Given the description of an element on the screen output the (x, y) to click on. 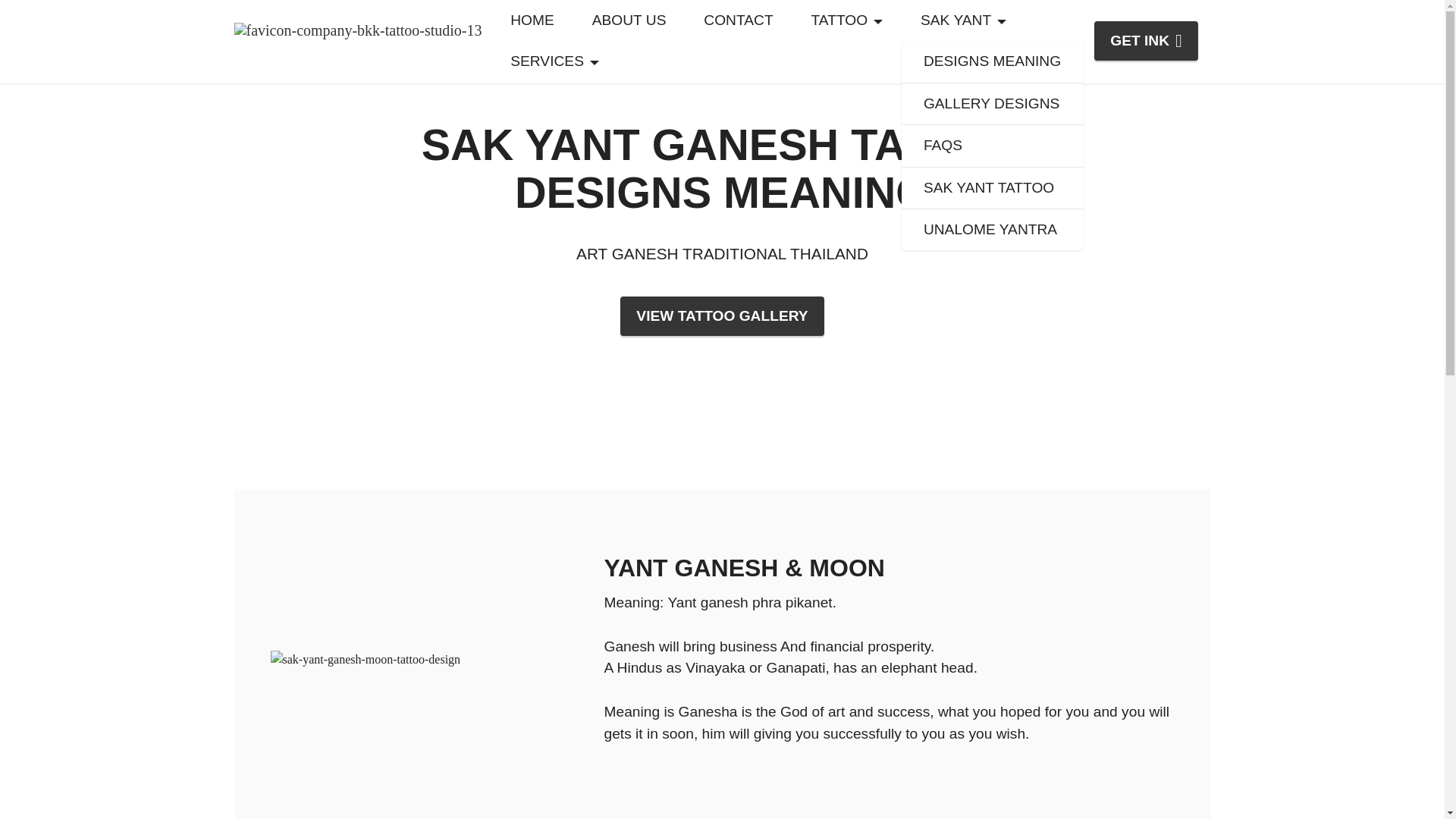
HOME (532, 20)
DESIGNS MEANING (992, 61)
FAQS (992, 146)
GET INK (1146, 40)
SAK YANT TATTOO (992, 188)
SAK YANT (962, 20)
ABOUT US (628, 20)
GALLERY DESIGNS (992, 104)
TATTOO (846, 20)
VIEW TATTOO GALLERY (722, 315)
